Given the description of an element on the screen output the (x, y) to click on. 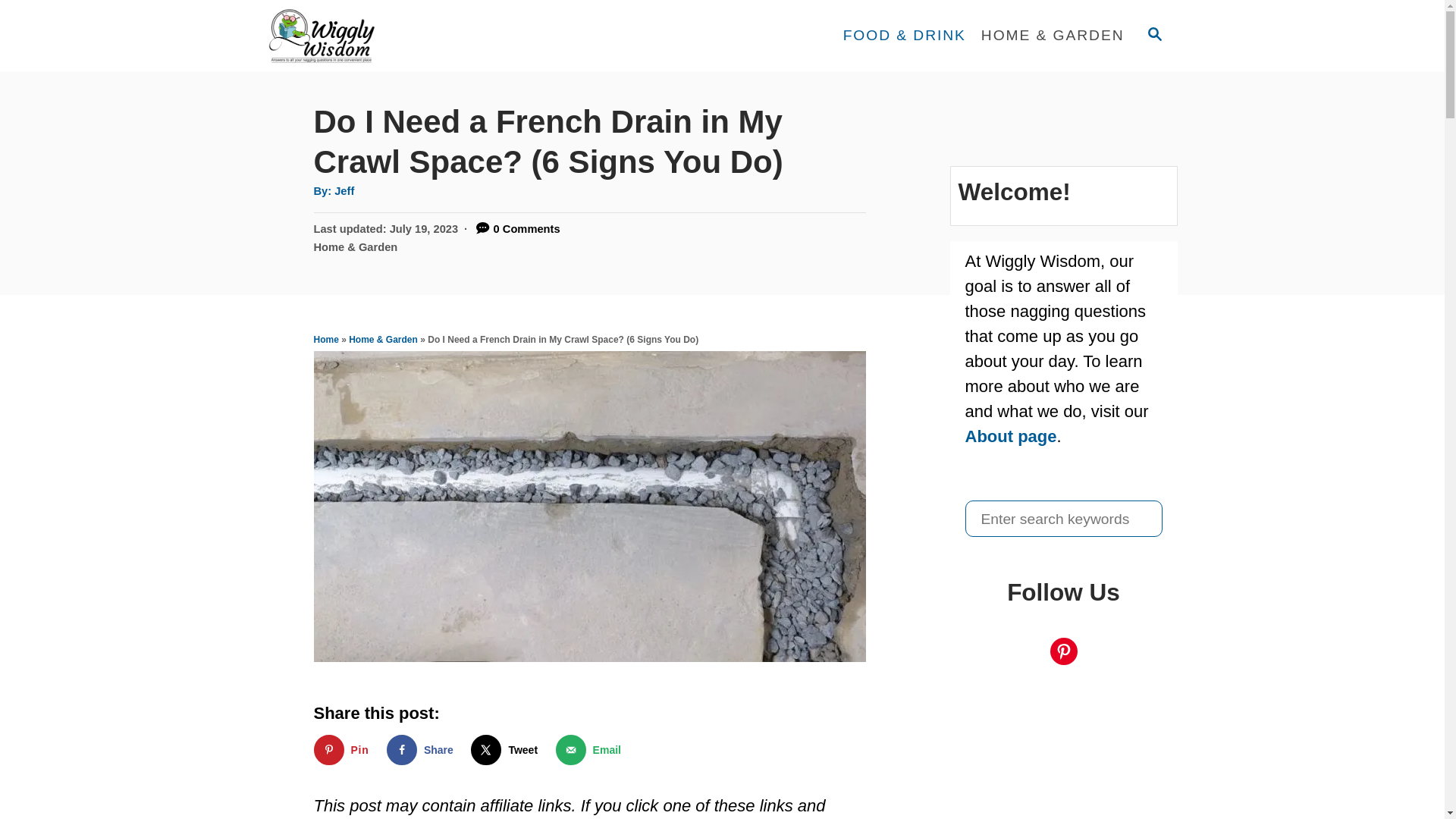
Save to Pinterest (344, 749)
SEARCH (1153, 35)
Share on X (507, 749)
Share on Facebook (423, 749)
Home (326, 339)
Jeff (343, 191)
Email (591, 749)
Share (423, 749)
Send over email (591, 749)
Search for: (1062, 518)
